Given the description of an element on the screen output the (x, y) to click on. 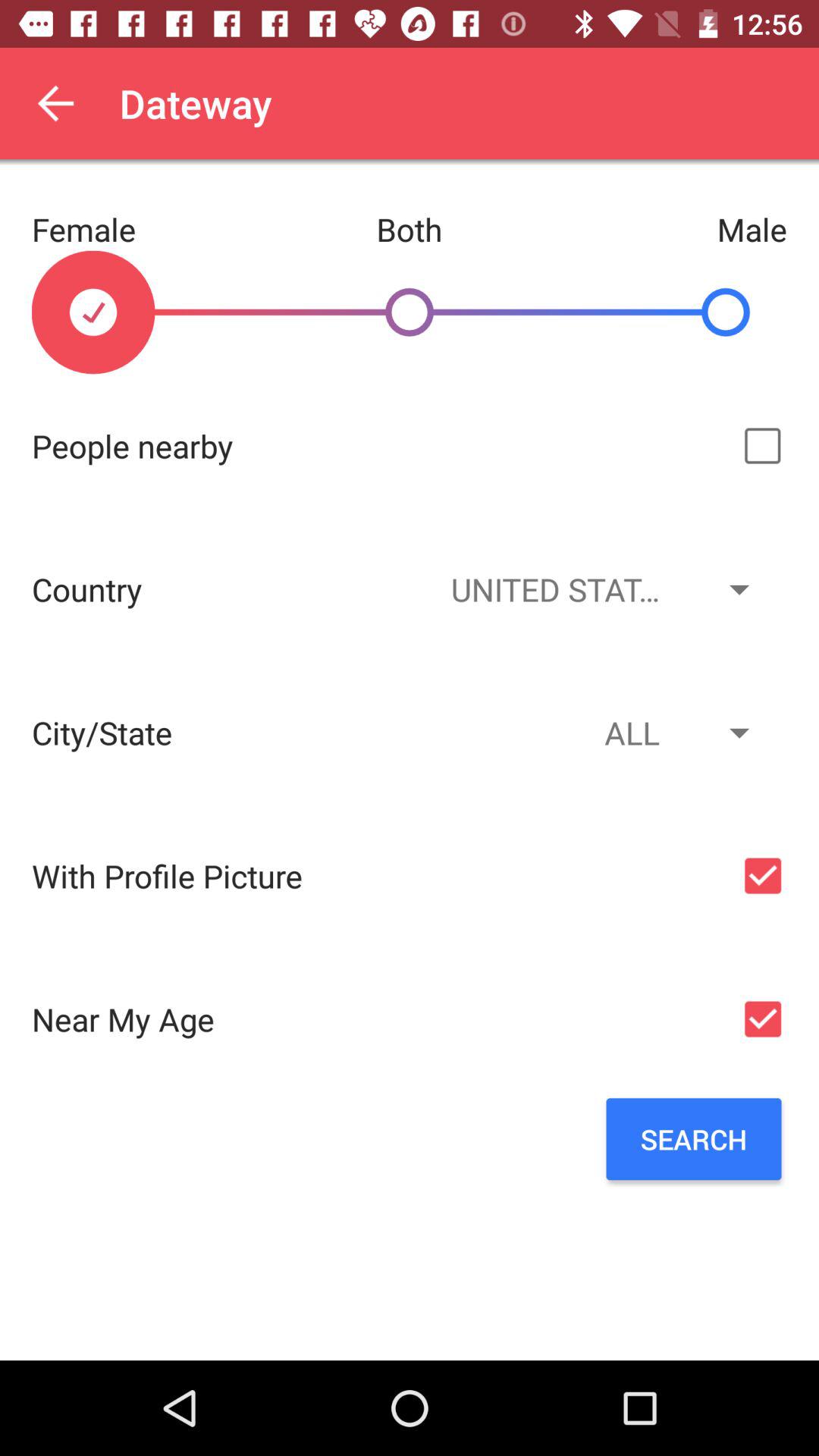
check or uncheck option for profile picture (762, 875)
